Given the description of an element on the screen output the (x, y) to click on. 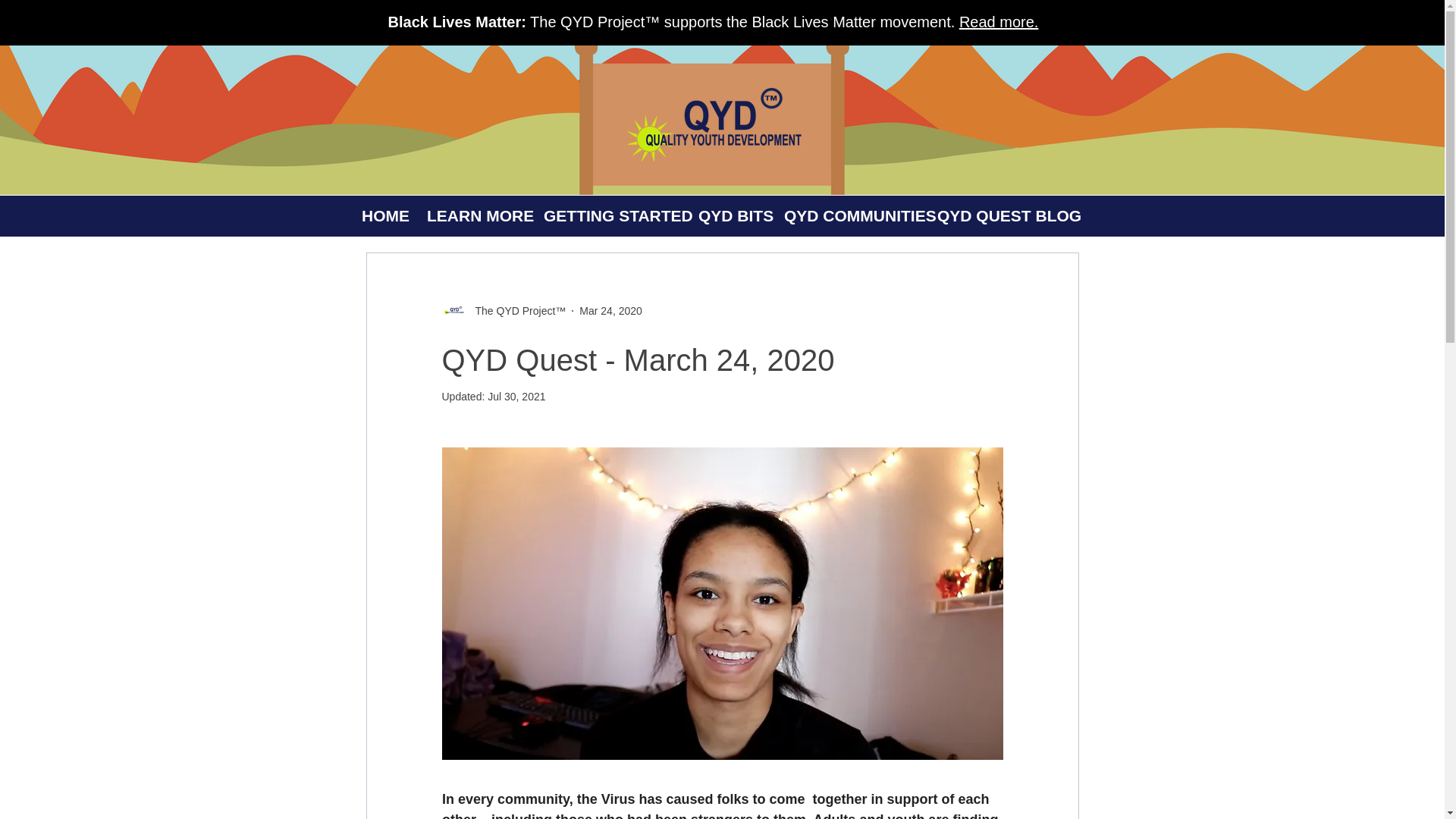
Mar 24, 2020 (610, 310)
QYD BITS (728, 215)
QYD COMMUNITIES (847, 215)
Jul 30, 2021 (515, 396)
HOME (381, 215)
Read more. (999, 21)
QYD QUEST BLOG (996, 215)
